Given the description of an element on the screen output the (x, y) to click on. 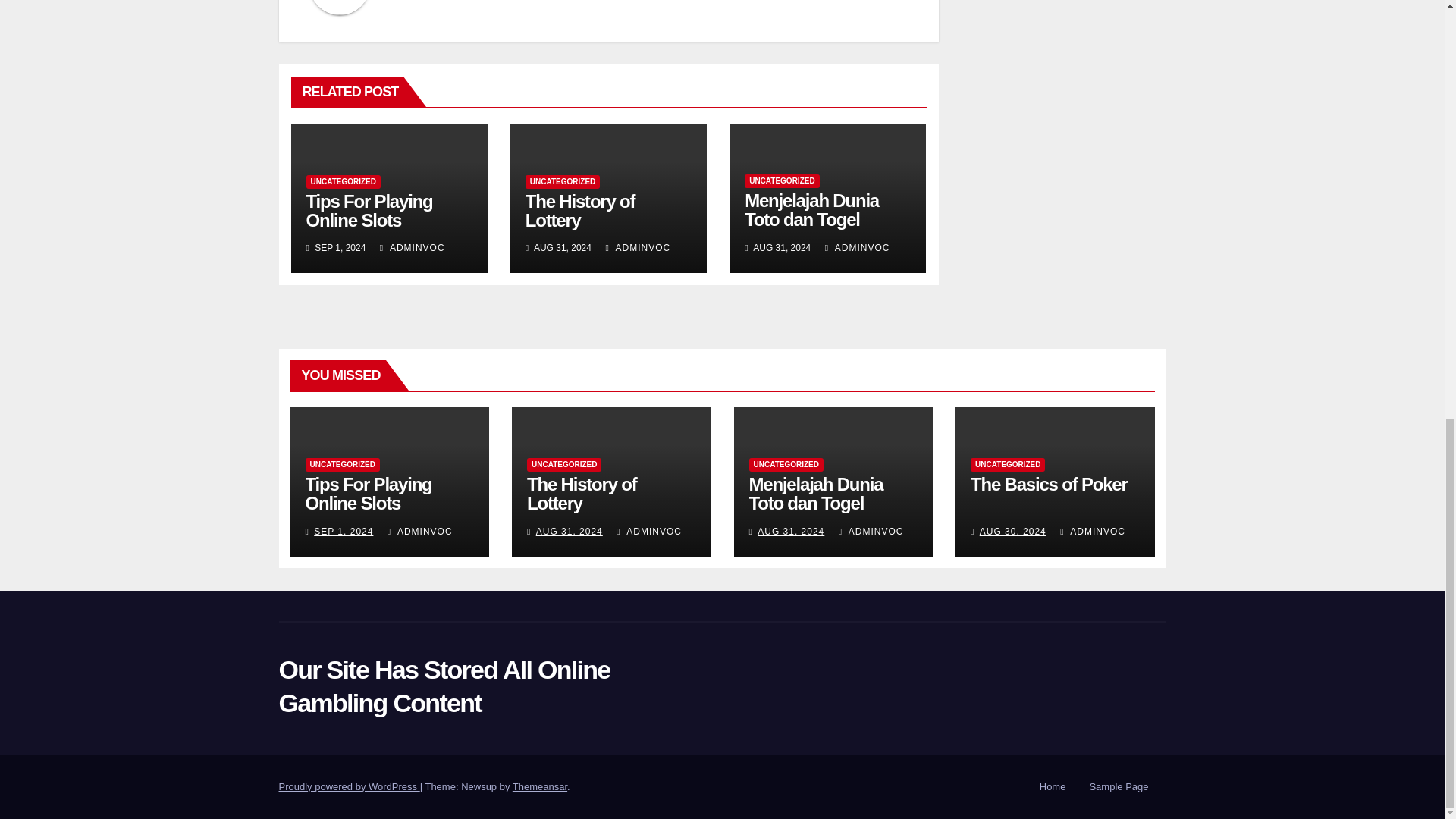
ADMINVOC (637, 247)
ADMINVOC (412, 247)
ADMINVOC (857, 247)
The History of Lottery (579, 210)
Permalink to: The History of Lottery (579, 210)
Home (1052, 786)
UNCATEGORIZED (342, 182)
Permalink to: Tips For Playing Online Slots (367, 493)
UNCATEGORIZED (562, 182)
